Given the description of an element on the screen output the (x, y) to click on. 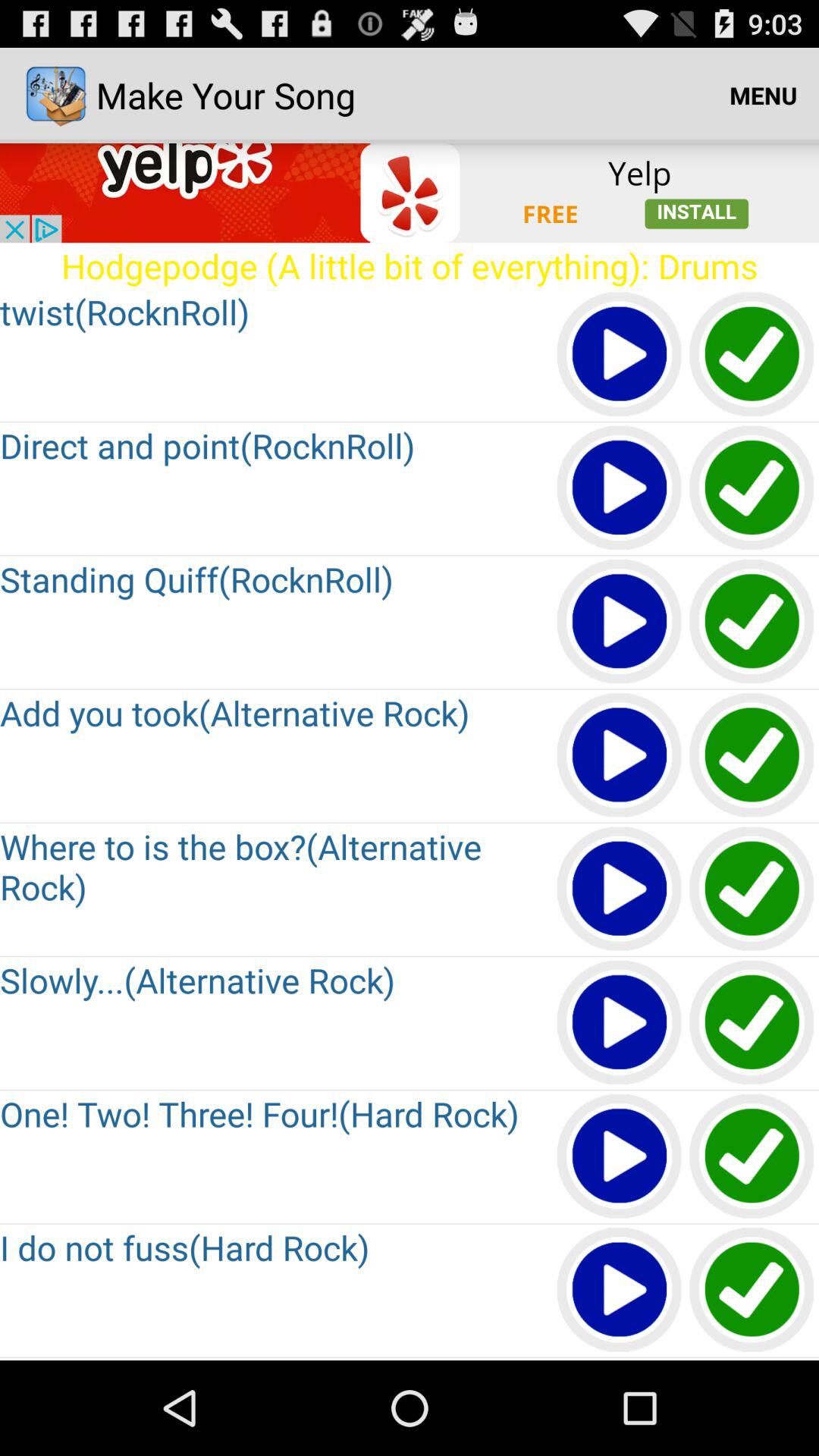
approve (752, 488)
